Given the description of an element on the screen output the (x, y) to click on. 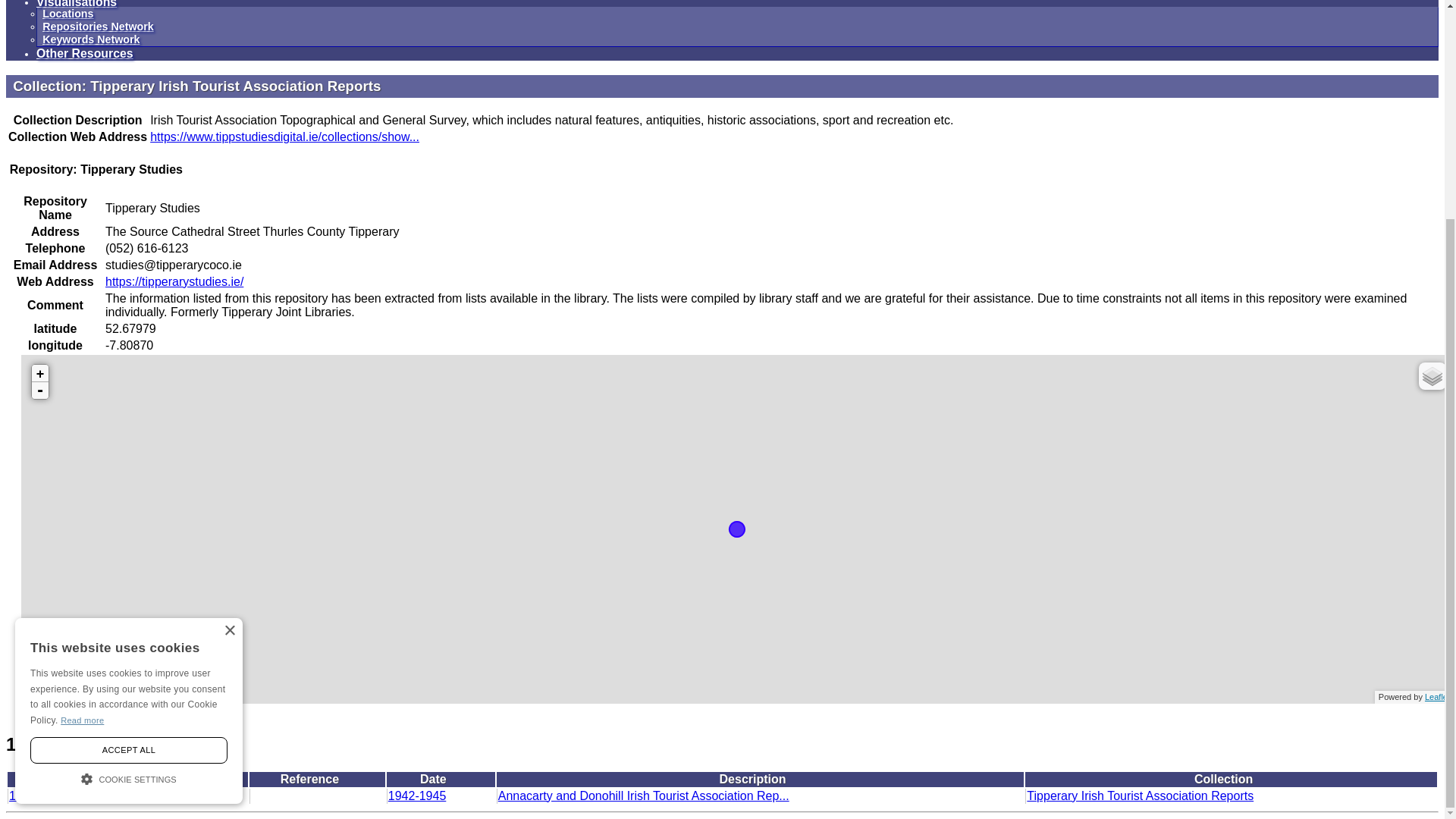
19784 (25, 795)
1942-1945 (417, 795)
- (40, 390)
Leaflet (1437, 696)
Keywords Network (90, 39)
Visualisations (76, 4)
Zoom out (40, 390)
Layers (1431, 375)
Other Resources (84, 52)
Zoom in (40, 373)
Tipperary Studies (122, 795)
Annacarty and Donohill Irish Tourist Association Rep... (643, 795)
Repositories Network (98, 26)
Locations (67, 13)
Read more (82, 429)
